Given the description of an element on the screen output the (x, y) to click on. 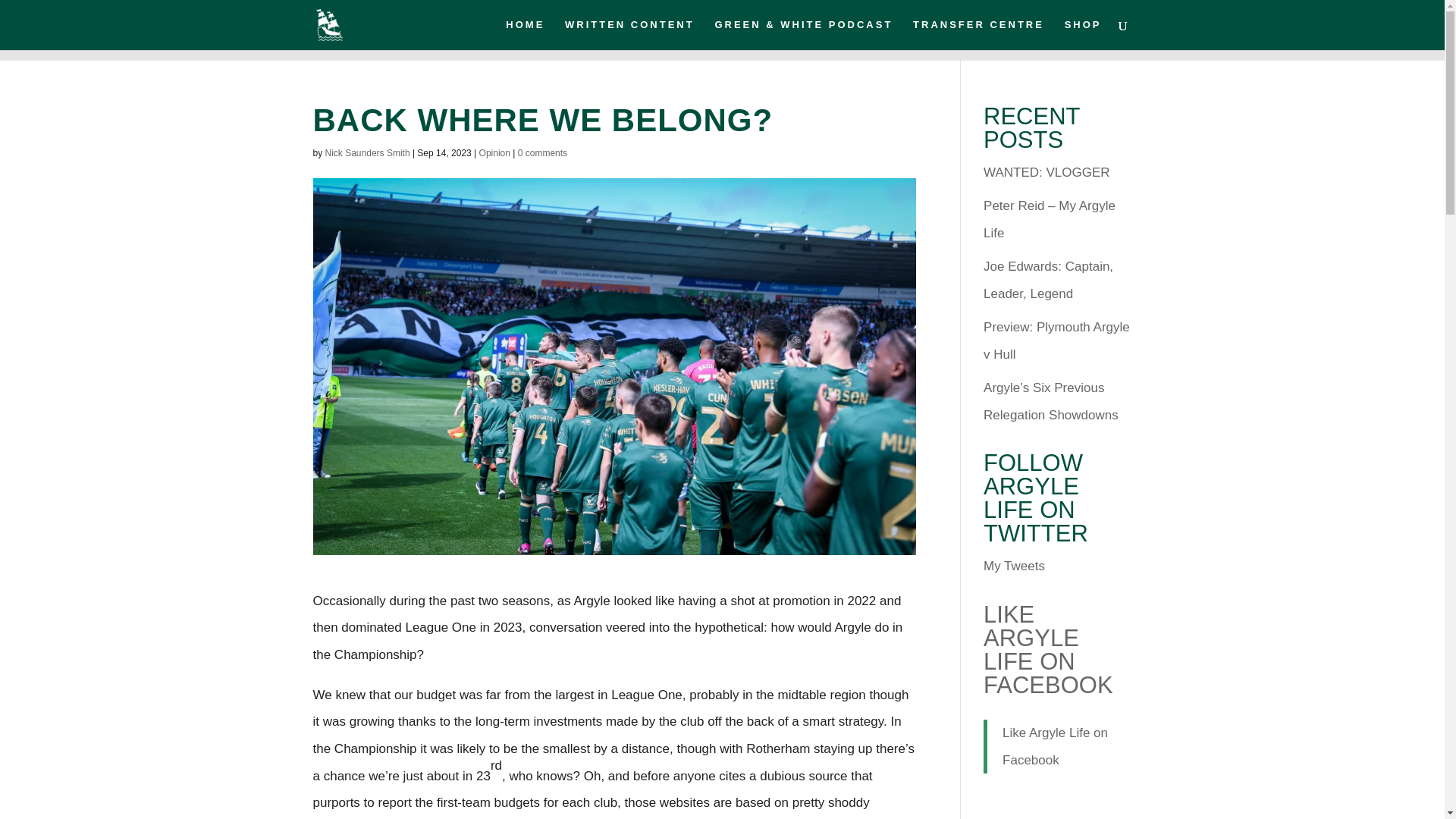
SHOP (1083, 34)
My Tweets (1014, 565)
Preview: Plymouth Argyle v Hull (1056, 340)
Like Argyle Life on Facebook (1055, 746)
Nick Saunders Smith (367, 153)
WRITTEN CONTENT (629, 34)
Opinion (495, 153)
HOME (524, 34)
Posts by Nick Saunders Smith (367, 153)
LIKE ARGYLE LIFE ON FACEBOOK (1048, 649)
